Given the description of an element on the screen output the (x, y) to click on. 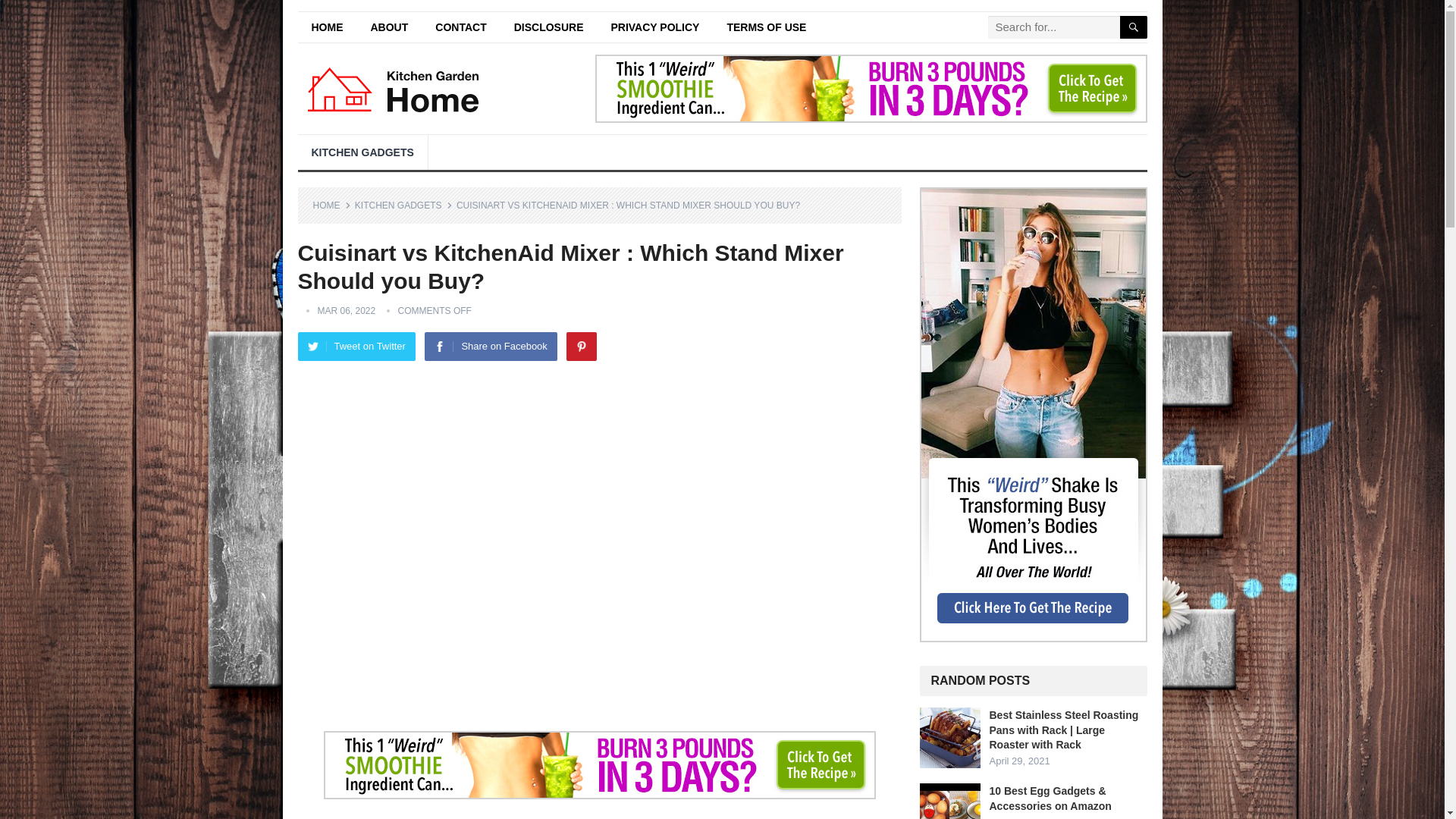
CONTACT (460, 27)
Tweet on Twitter (355, 346)
KITCHEN GADGETS (403, 204)
Share on Facebook (490, 346)
DISCLOSURE (548, 27)
HOME (331, 204)
View all posts in Kitchen Gadgets (403, 204)
Pinterest (581, 346)
PRIVACY POLICY (654, 27)
TERMS OF USE (766, 27)
KITCHEN GADGETS (361, 152)
HOME (326, 27)
ABOUT (389, 27)
